Given the description of an element on the screen output the (x, y) to click on. 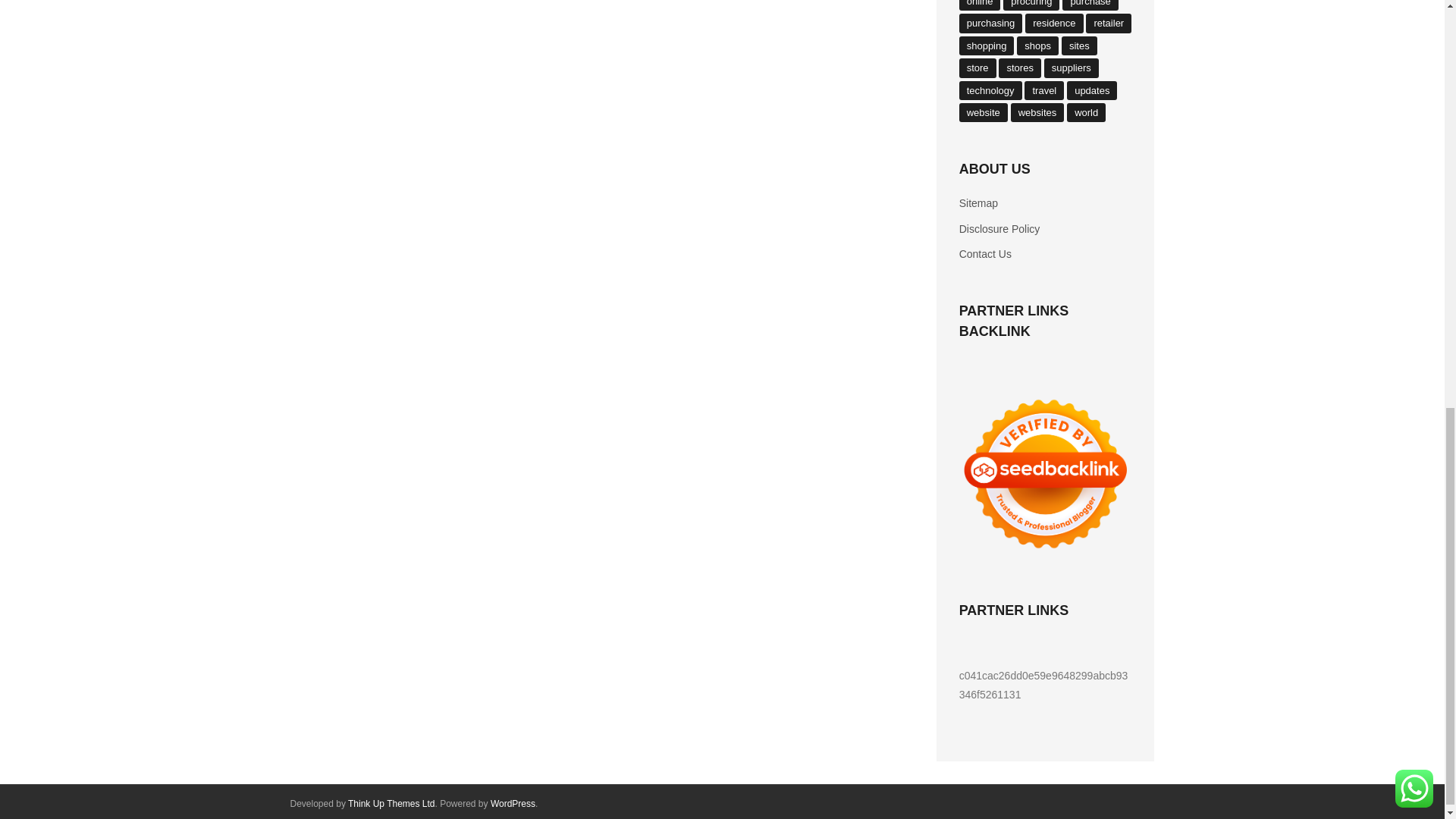
Seedbacklink (1045, 473)
